Given the description of an element on the screen output the (x, y) to click on. 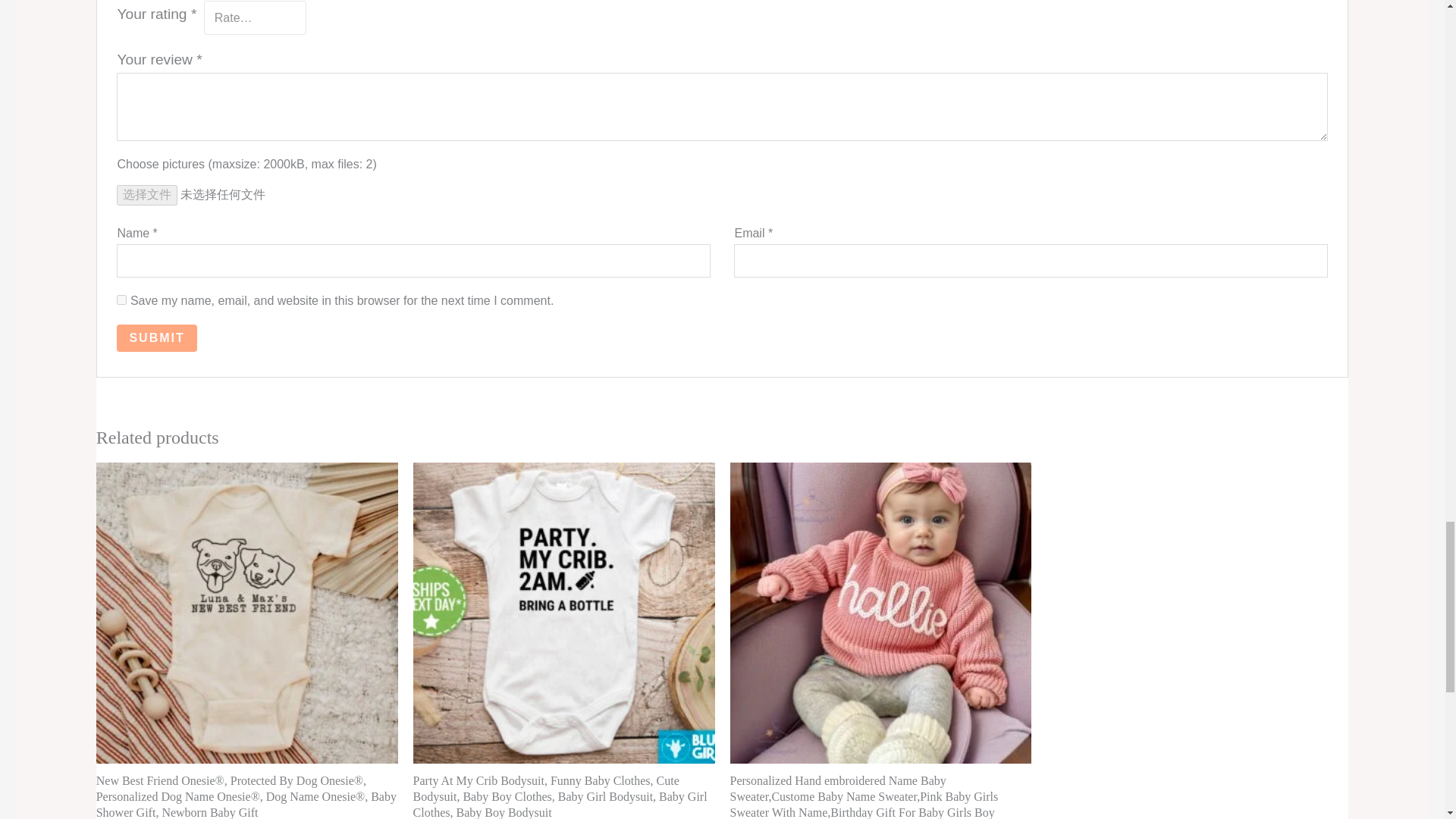
yes (121, 299)
Submit (156, 338)
